Given the description of an element on the screen output the (x, y) to click on. 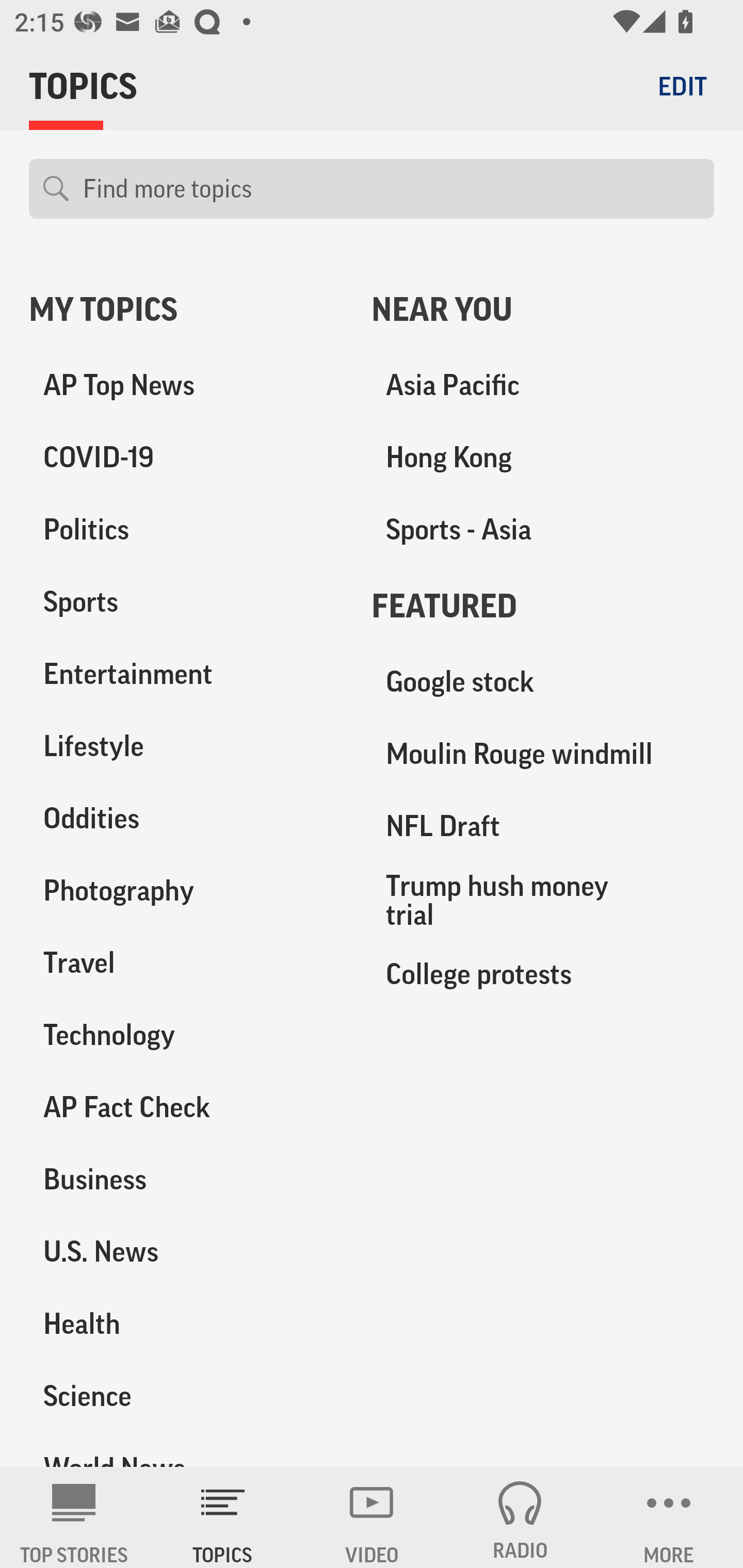
EDIT (682, 86)
Find more topics (391, 188)
AP Top News (185, 385)
Asia Pacific (542, 385)
COVID-19 (185, 457)
Hong Kong (542, 457)
Politics (185, 529)
Sports - Asia (542, 529)
Sports (185, 602)
Entertainment (185, 674)
Google stock (542, 682)
Lifestyle (185, 746)
Moulin Rouge windmill (542, 754)
Oddities (185, 818)
NFL Draft (542, 826)
Photography (185, 890)
Trump hush money trial (542, 899)
Travel (185, 962)
College protests (542, 973)
Technology (185, 1034)
AP Fact Check (185, 1106)
Business (185, 1179)
U.S. News (185, 1251)
Health (185, 1323)
Science (185, 1395)
AP News TOP STORIES (74, 1517)
TOPICS (222, 1517)
VIDEO (371, 1517)
RADIO (519, 1517)
MORE (668, 1517)
